Given the description of an element on the screen output the (x, y) to click on. 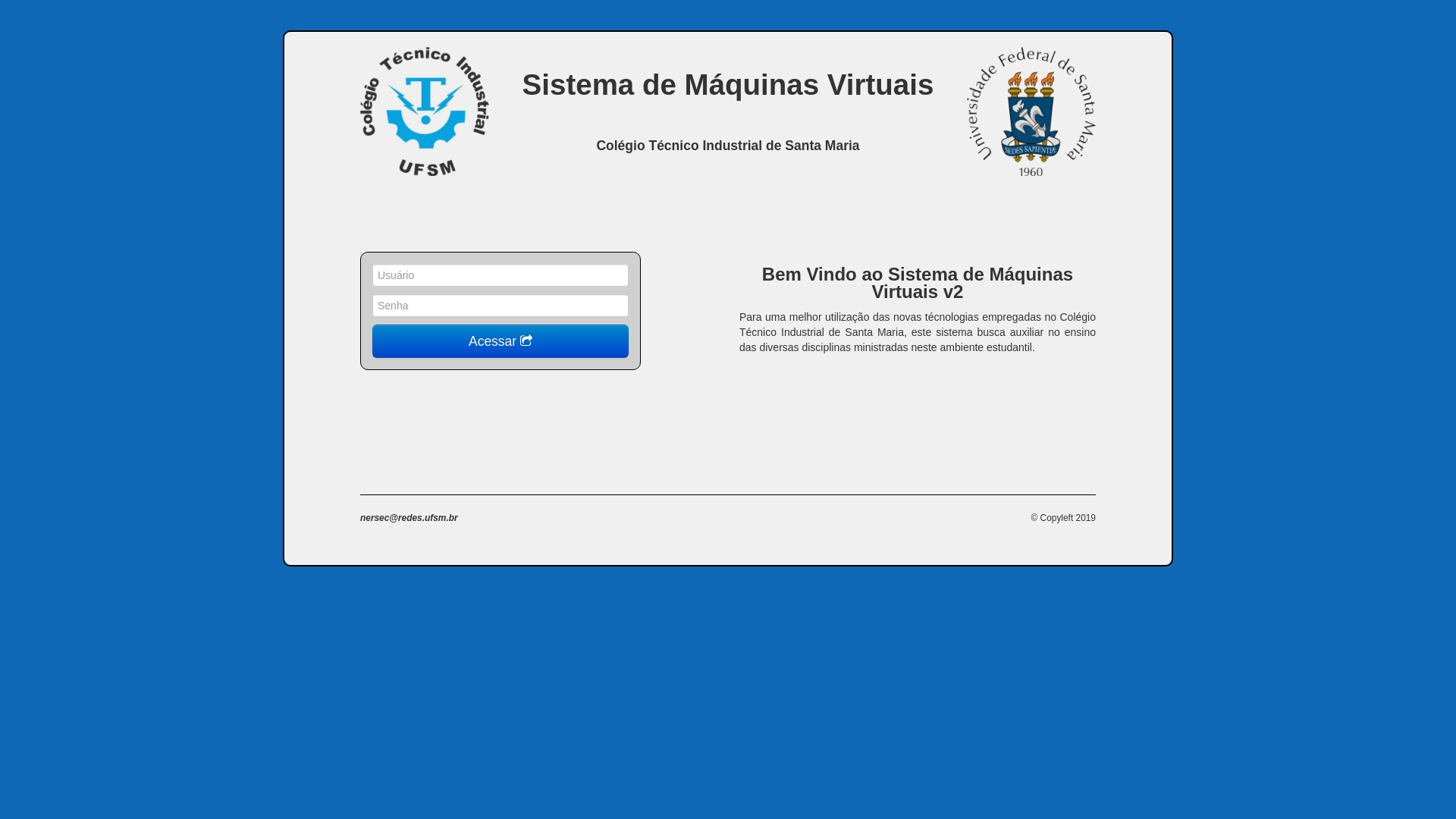
Acessar  Element type: text (500, 340)
